Given the description of an element on the screen output the (x, y) to click on. 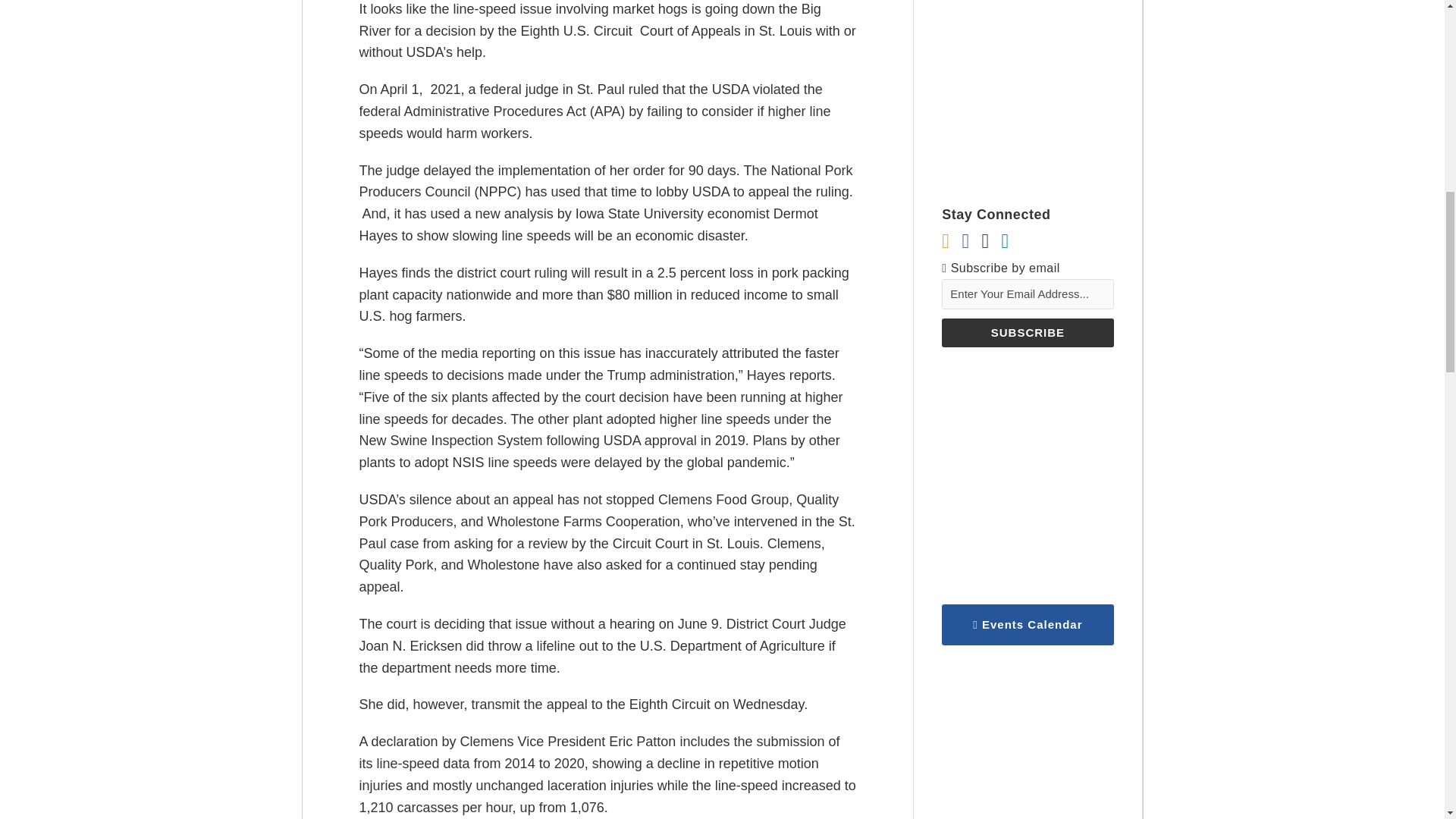
Facebook (964, 241)
RSS (945, 241)
Subscribe (1027, 332)
